Given the description of an element on the screen output the (x, y) to click on. 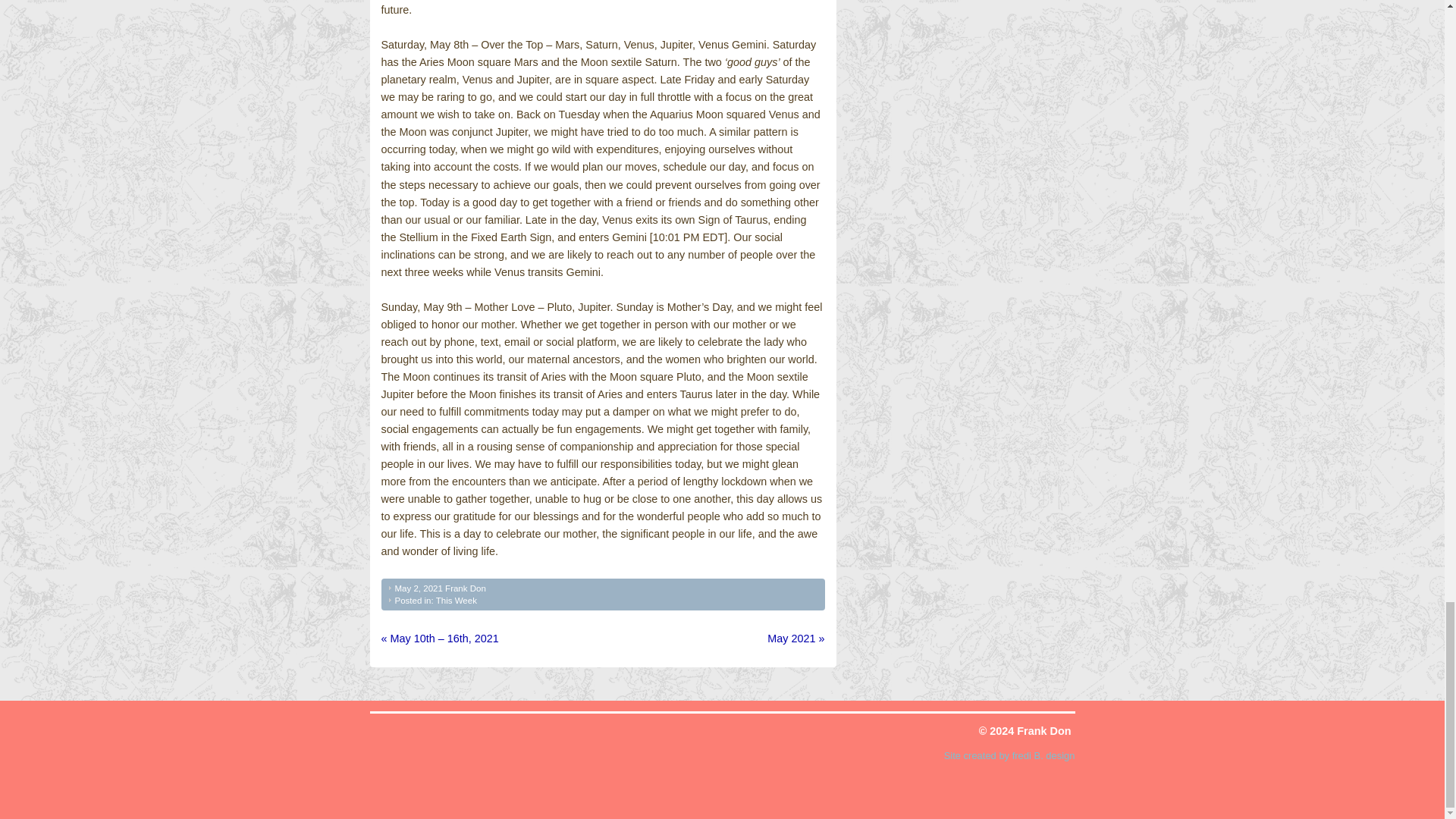
Frank Don (465, 587)
This Week (456, 600)
